Given the description of an element on the screen output the (x, y) to click on. 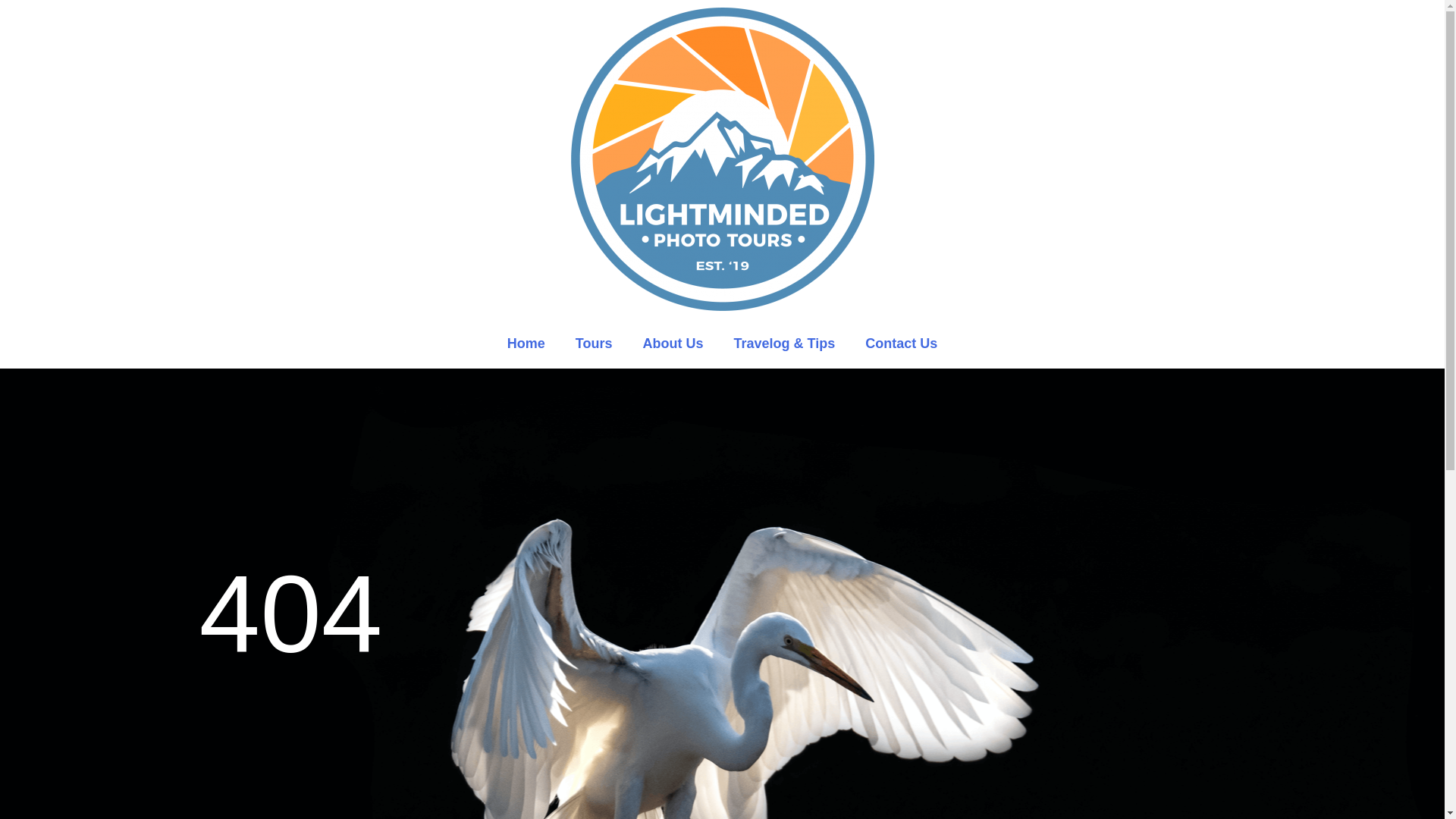
Tours (593, 343)
About Us (672, 343)
Home (526, 343)
Contact Us (901, 343)
